Given the description of an element on the screen output the (x, y) to click on. 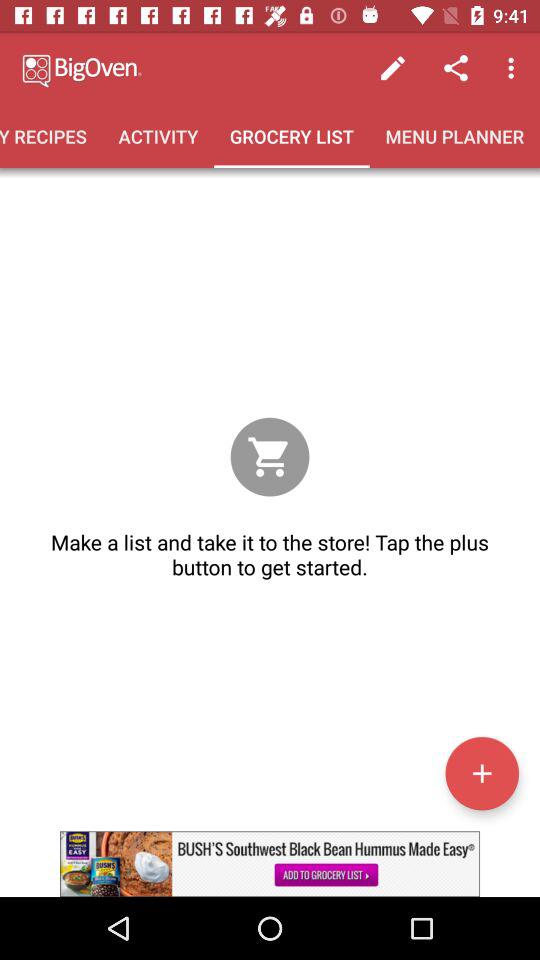
advertisement (270, 864)
